Given the description of an element on the screen output the (x, y) to click on. 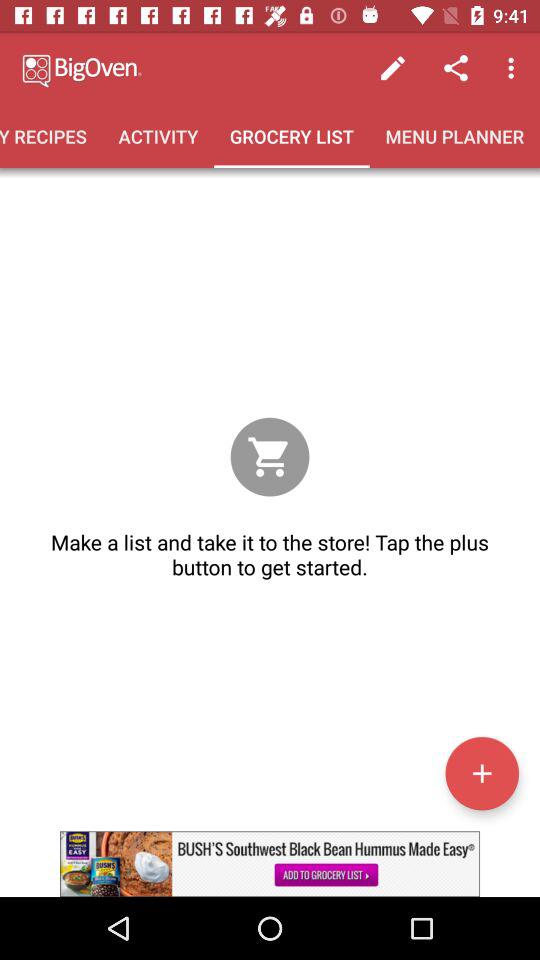
advertisement (270, 864)
